Given the description of an element on the screen output the (x, y) to click on. 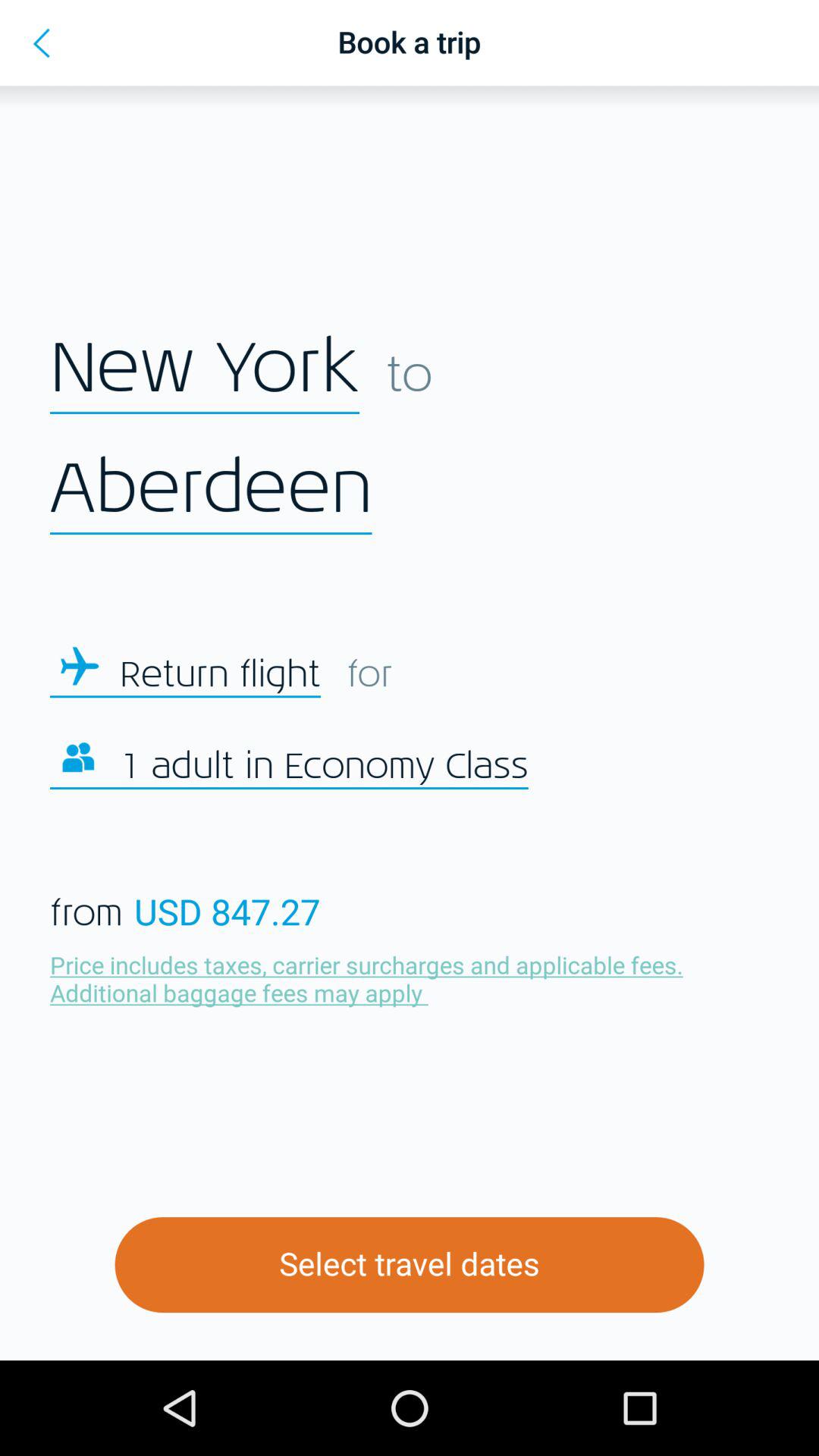
select the item below price includes taxes item (409, 1264)
